Given the description of an element on the screen output the (x, y) to click on. 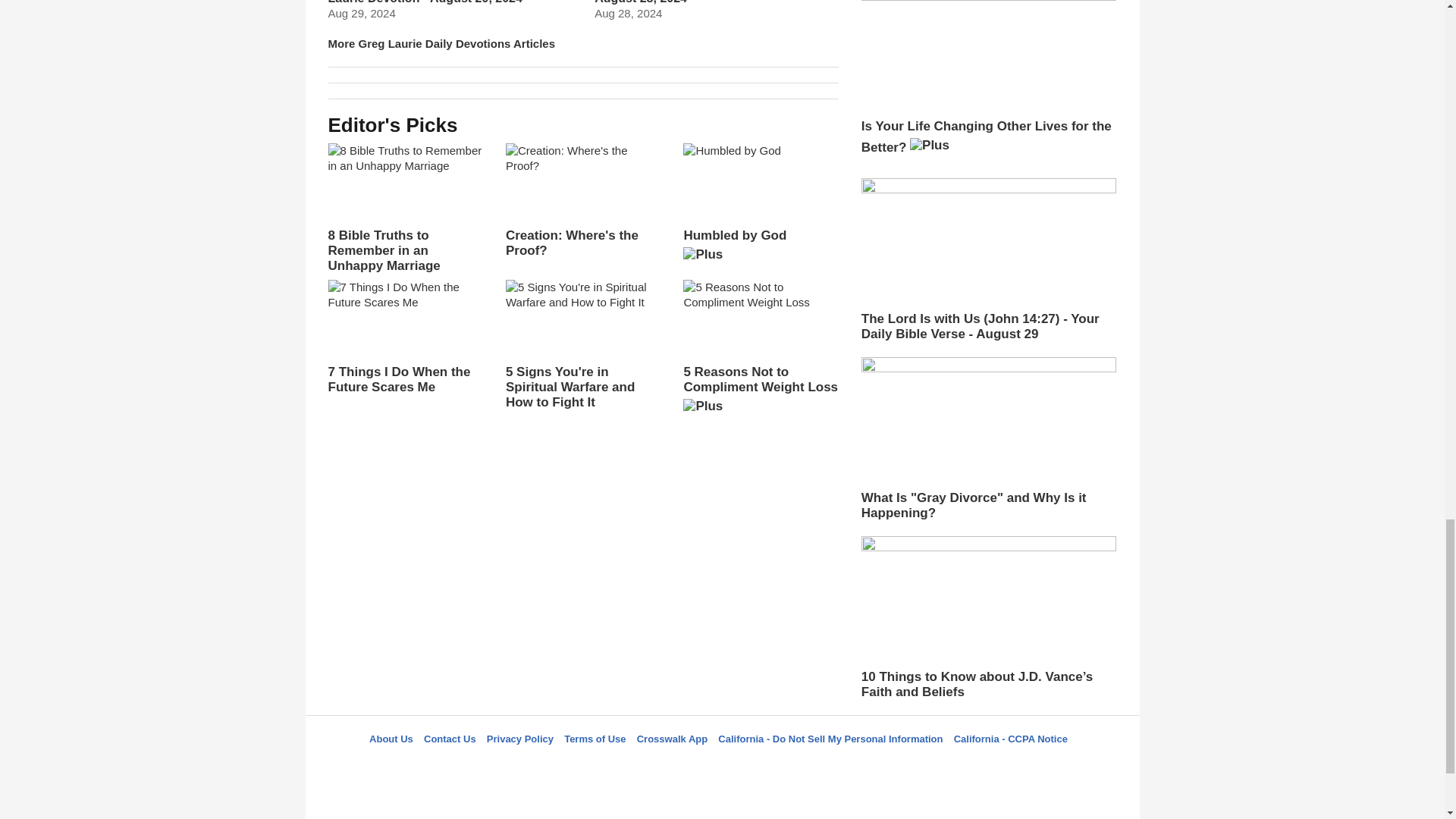
5 Reasons Not to Compliment Weight Loss (760, 352)
Humbled by God (760, 207)
Facebook (645, 765)
7 Things I Do When the Future Scares Me (404, 337)
Twitter (683, 765)
8 Bible Truths to Remember in an Unhappy Marriage (404, 208)
Creation: Where's the Proof? (583, 200)
Pinterest (757, 765)
LifeAudio (719, 765)
5 Signs You're in Spiritual Warfare and How to Fight It (583, 345)
